Given the description of an element on the screen output the (x, y) to click on. 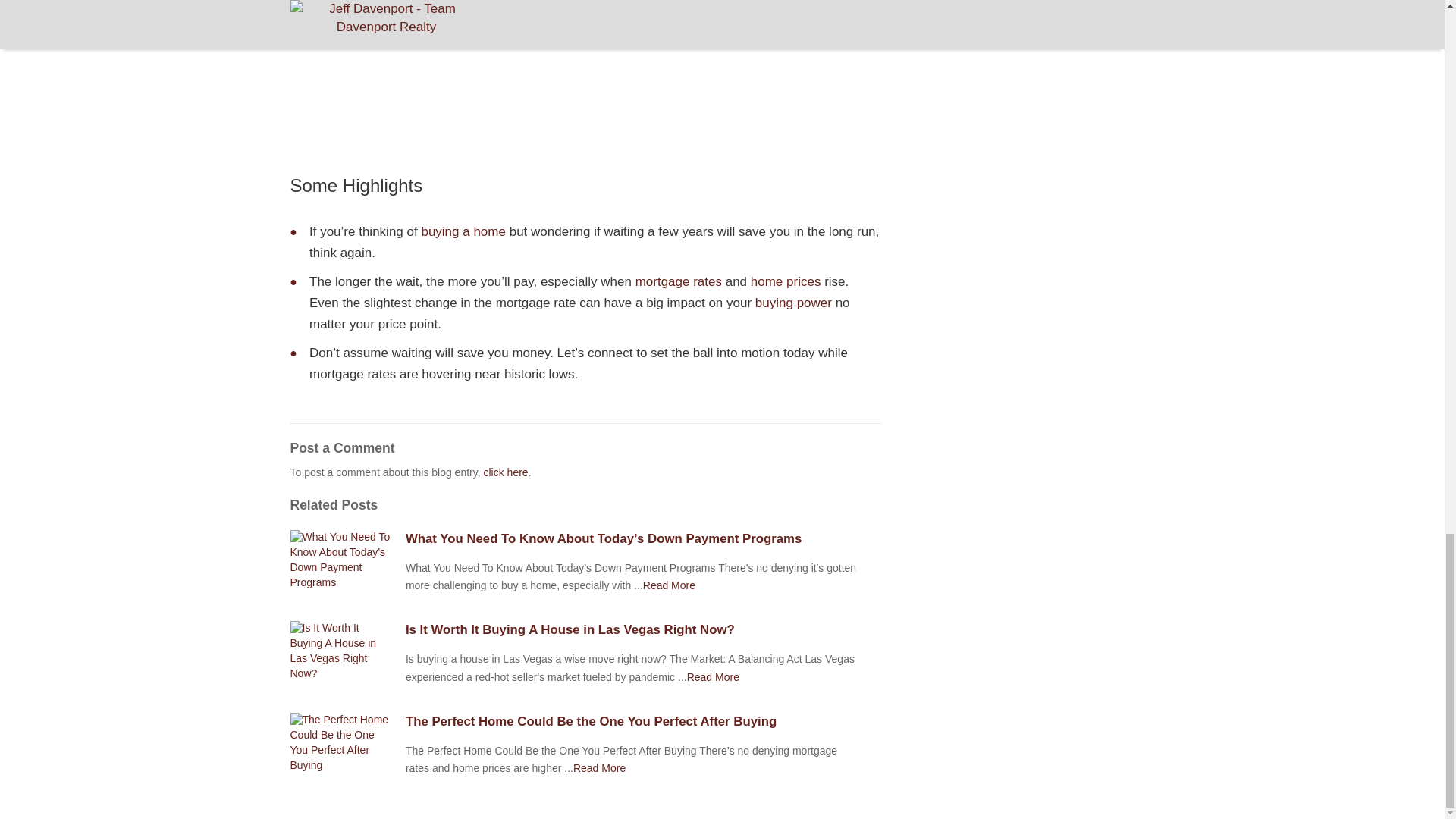
home prices (786, 281)
buying a home (462, 231)
Waiting To Buy a Home Could Cost You (713, 676)
buying power (793, 302)
Waiting To Buy a Home Could Cost You (669, 585)
Is It Worth It Buying A House in Las Vegas Right Now? (643, 629)
mortgage rates (678, 281)
